Given the description of an element on the screen output the (x, y) to click on. 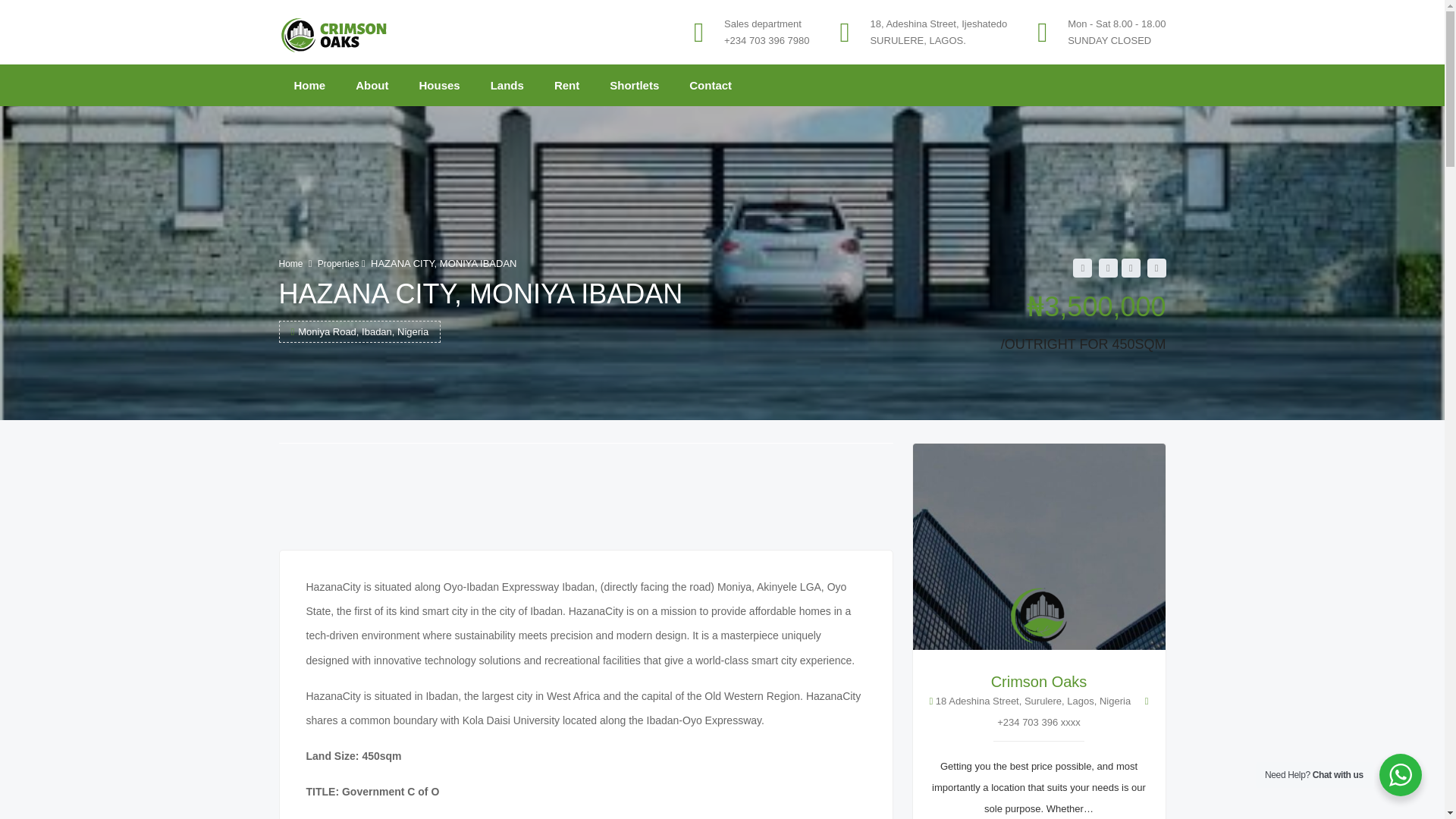
Rent (566, 85)
Home (290, 263)
Lands (507, 85)
About (371, 85)
Contact (710, 85)
Shortlets (634, 85)
Houses (440, 85)
Crimson Oaks (336, 32)
Properties (338, 263)
Home (309, 85)
